Given the description of an element on the screen output the (x, y) to click on. 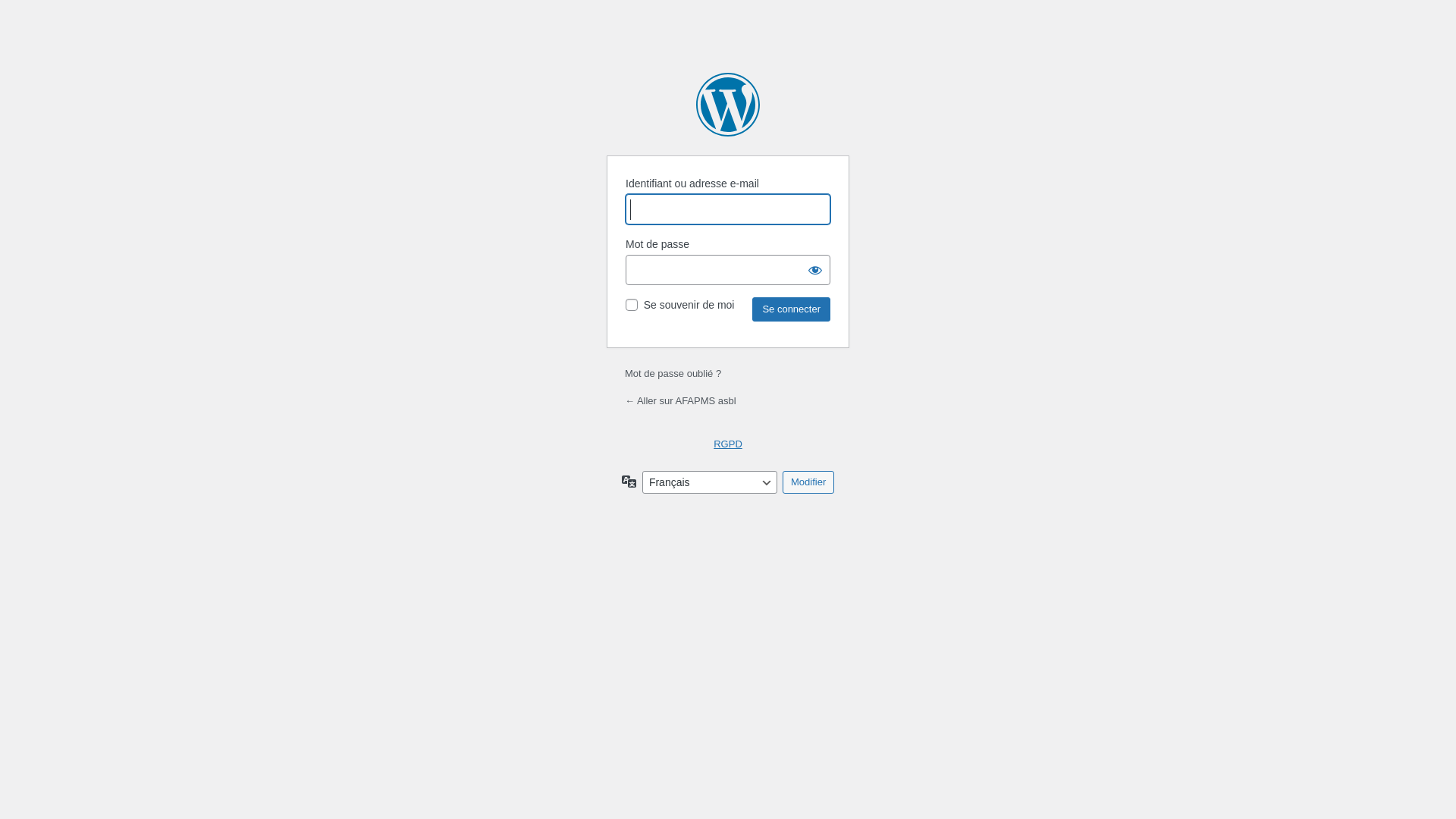
Se connecter Element type: text (791, 309)
RGPD Element type: text (727, 443)
Modifier Element type: text (808, 481)
